Given the description of an element on the screen output the (x, y) to click on. 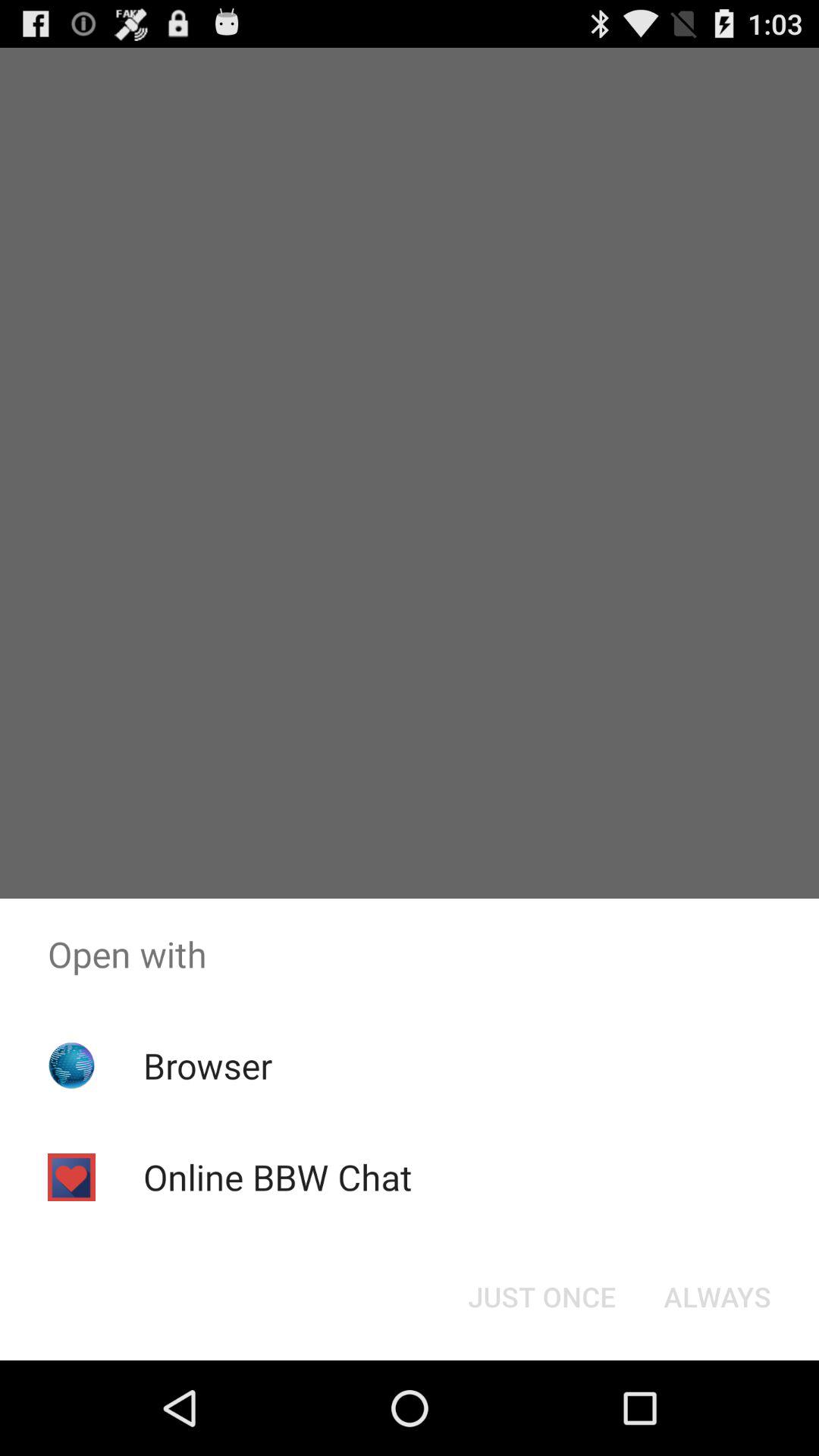
click just once (541, 1296)
